Given the description of an element on the screen output the (x, y) to click on. 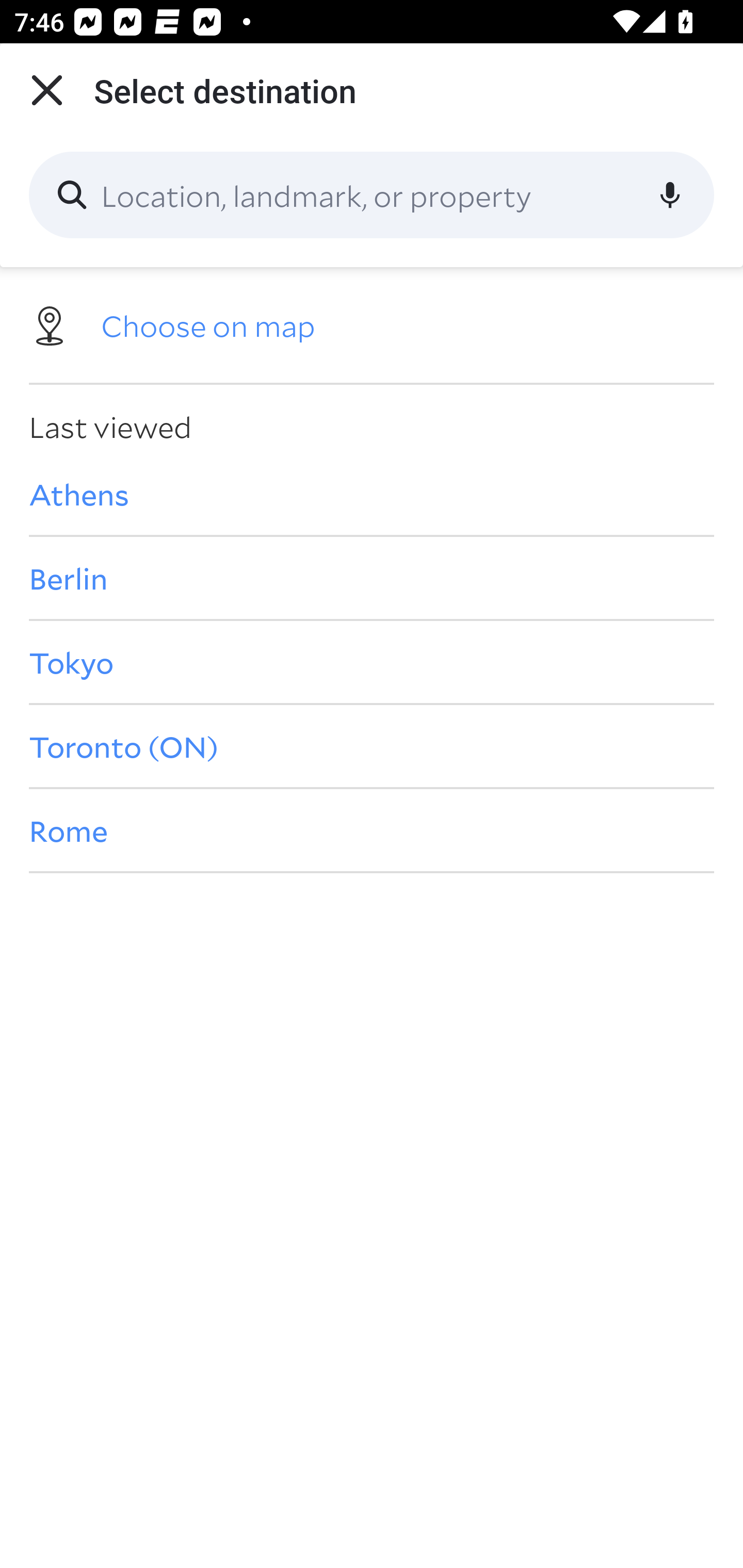
Location, landmark, or property (371, 195)
Choose on map (371, 324)
Athens (371, 493)
Berlin (371, 577)
Tokyo (371, 661)
Toronto (ON) (371, 746)
Rome (371, 829)
